Given the description of an element on the screen output the (x, y) to click on. 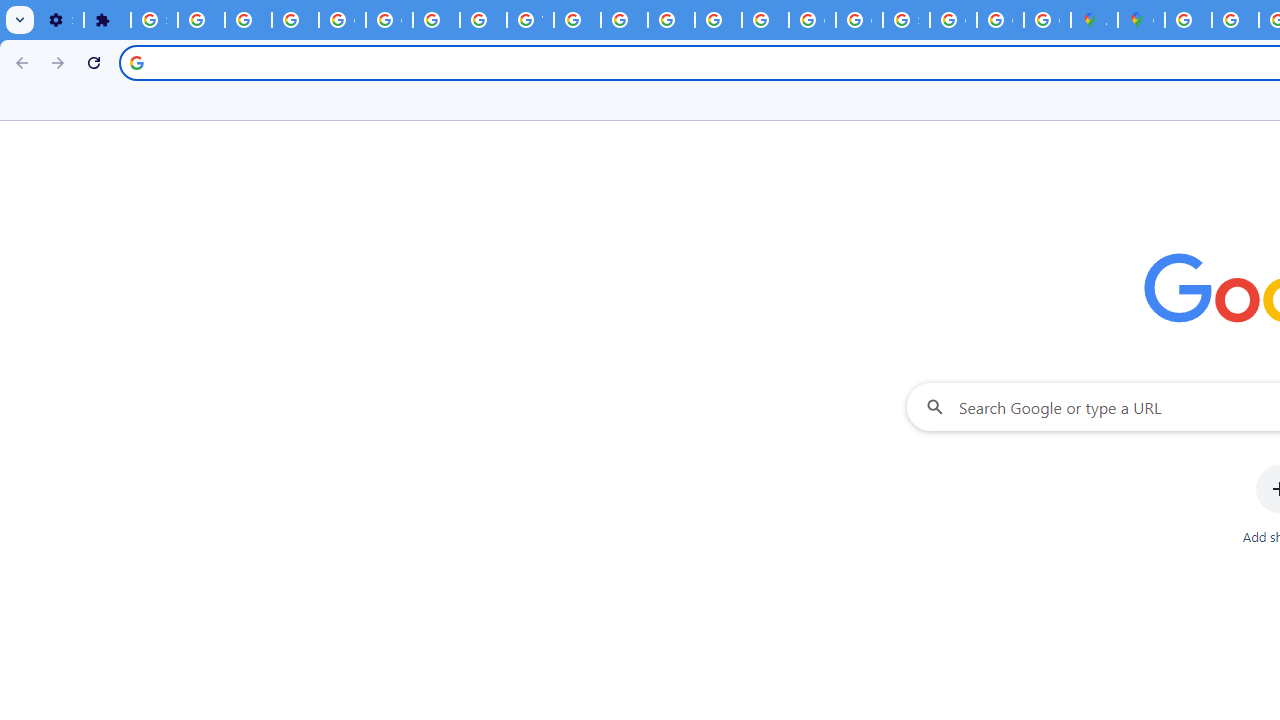
Sign in - Google Accounts (153, 20)
Settings - On startup (60, 20)
Google Account Help (389, 20)
YouTube (530, 20)
Learn how to find your photos - Google Photos Help (248, 20)
Google Maps (1140, 20)
Policy Accountability and Transparency - Transparency Center (1188, 20)
Sign in - Google Accounts (906, 20)
